Given the description of an element on the screen output the (x, y) to click on. 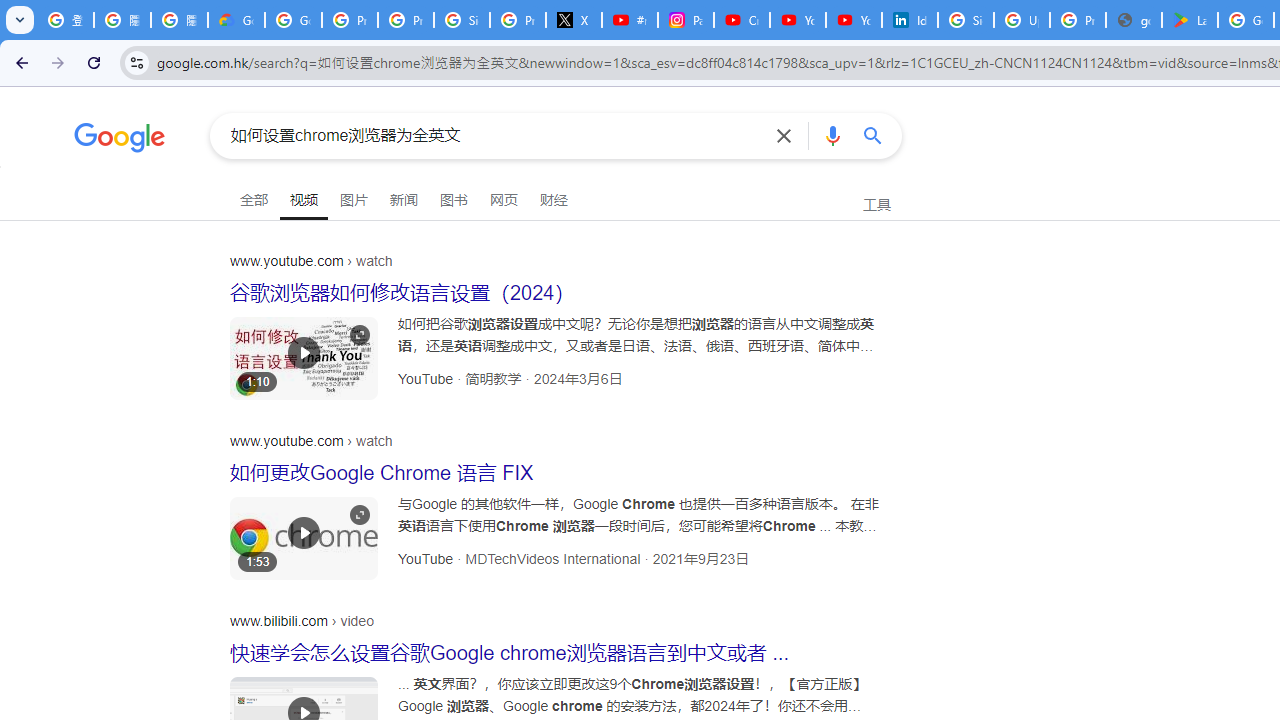
X (573, 20)
Google Cloud Privacy Notice (235, 20)
Last Shelter: Survival - Apps on Google Play (1190, 20)
